Given the description of an element on the screen output the (x, y) to click on. 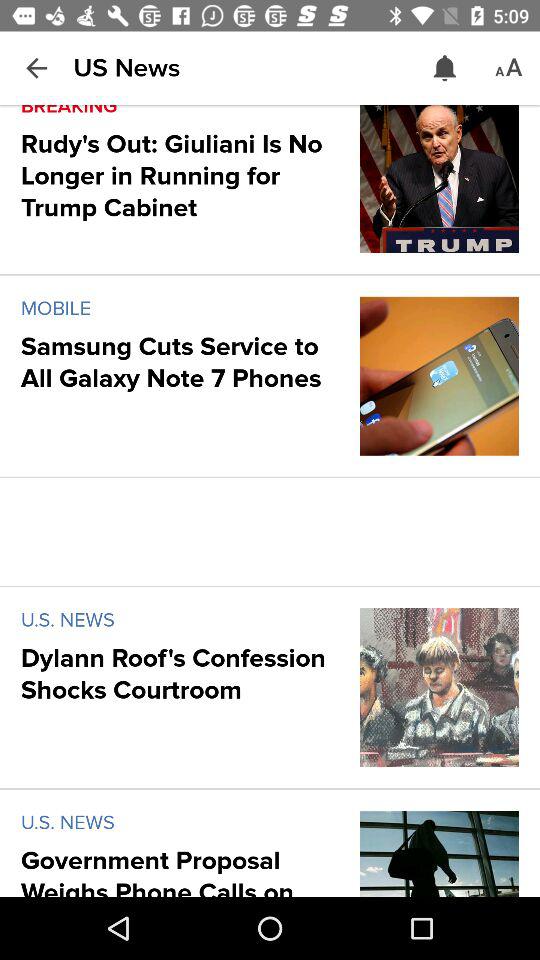
select the icon to the right of us news item (444, 67)
